Given the description of an element on the screen output the (x, y) to click on. 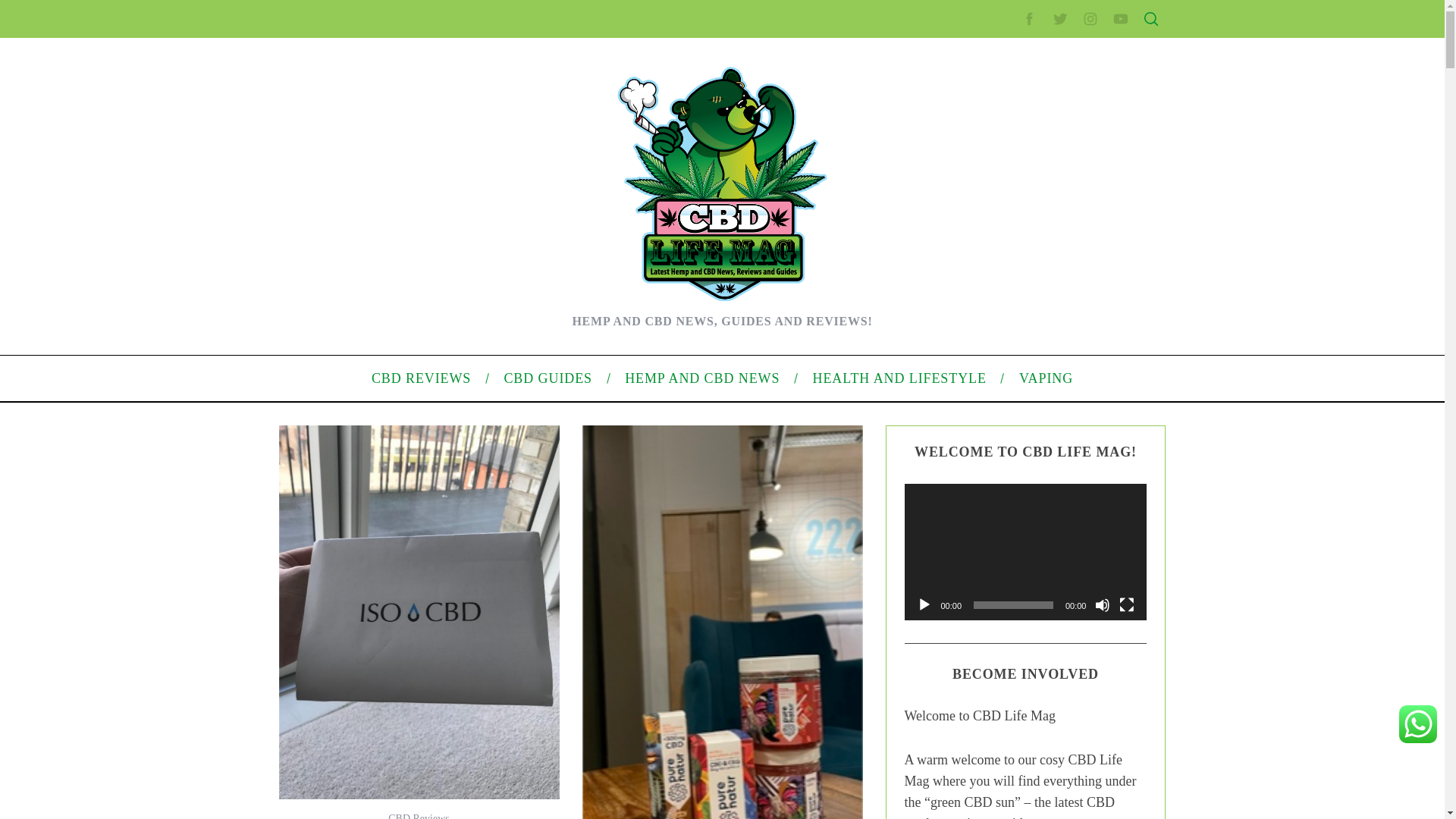
Joy Online (346, 467)
Customer Reviews (365, 322)
Latest Article (996, 172)
Blog (976, 510)
Terms of Use (996, 330)
Search (1050, 85)
DMCA Policy (996, 282)
The Dark Yorkshire Series: Books 4 To 6 (416, 250)
Search (1050, 85)
Books (336, 418)
Disclaimer (990, 354)
Search for: (1049, 47)
December 2020 (1004, 432)
Skip to content (34, 9)
